Given the description of an element on the screen output the (x, y) to click on. 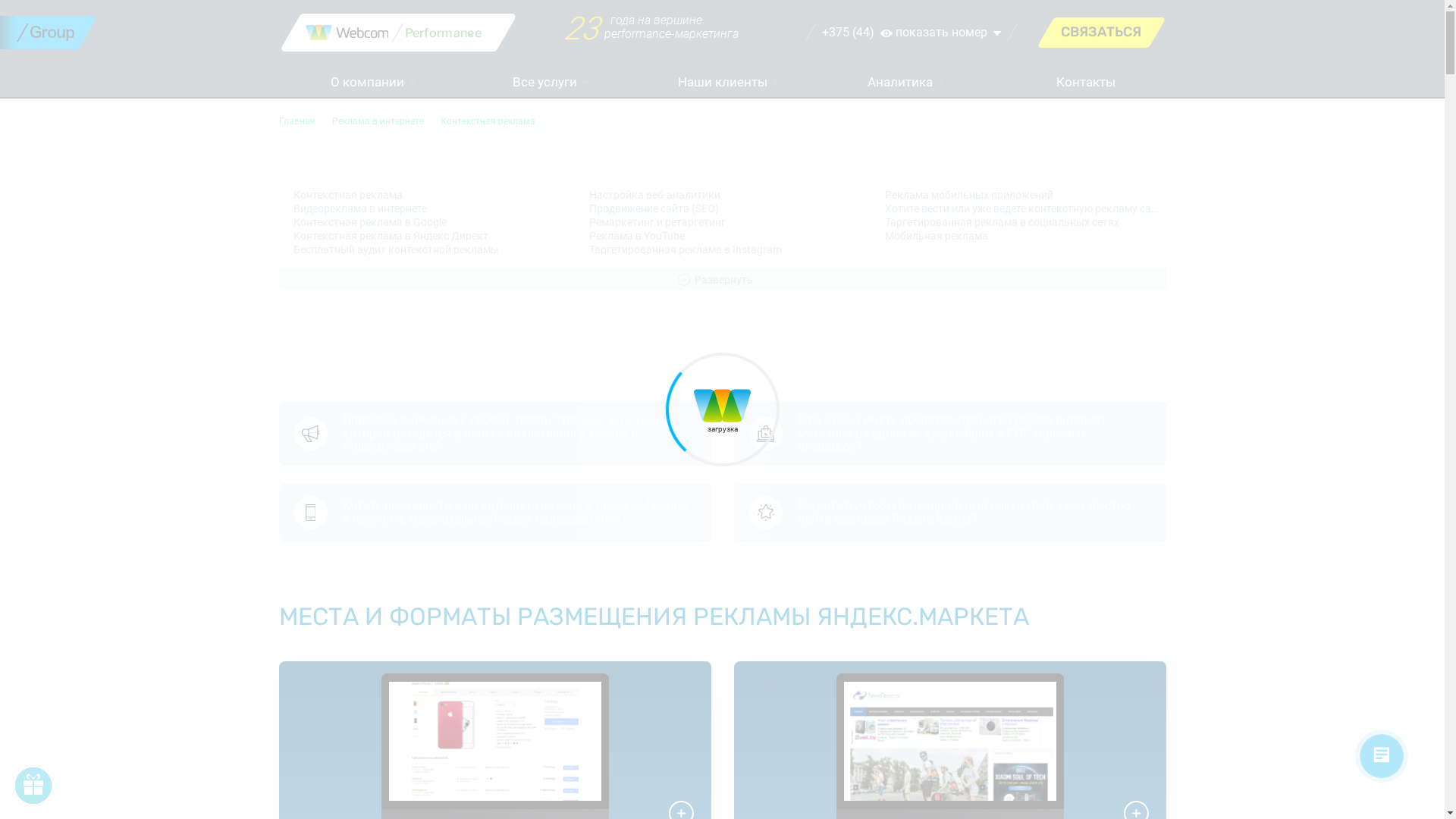
Performance Element type: text (443, 33)
